Given the description of an element on the screen output the (x, y) to click on. 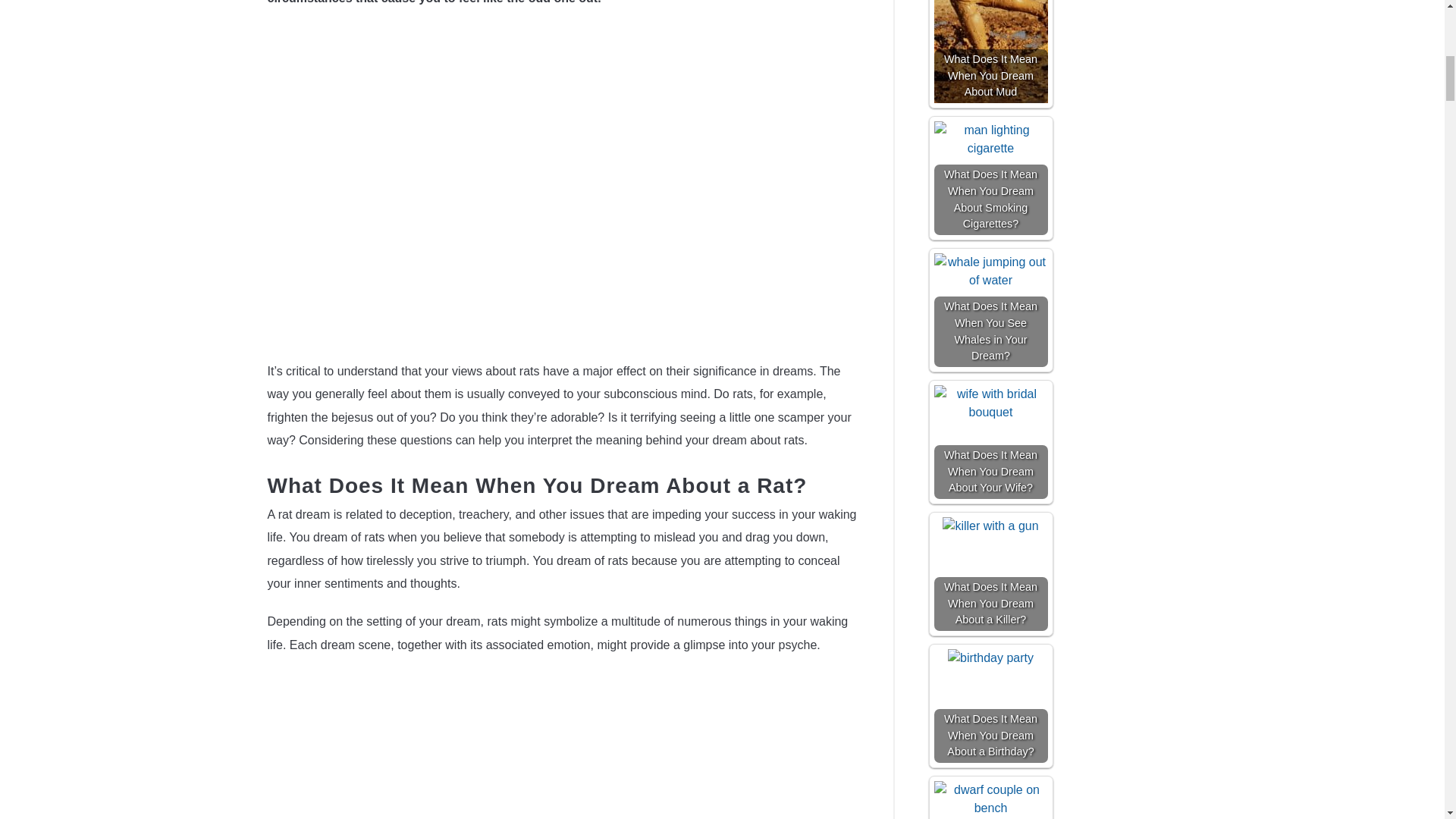
What Does It Mean When You Dream About Smoking Cigarettes? (991, 178)
What Does It Mean When You Dream About a Killer? (991, 573)
What Does It Mean When You Dream About Smoking Cigarettes? (991, 139)
What Does It Mean When You Dream About a Dwarf? (991, 800)
What Does It Mean When You Dream About a Killer? (990, 525)
What Does It Mean When You Dream About Your Wife? (991, 441)
What Does It Mean When You Dream About a Dwarf? (991, 799)
What Does It Mean When You Dream About a Birthday? (991, 705)
What Does It Mean When You Dream About Mud (991, 51)
What Does It Mean When You See Whales in Your Dream? (991, 309)
What Does It Mean When You Dream About Your Wife? (991, 402)
What Does It Mean When You Dream About Mud (991, 51)
What Does It Mean When You See Whales in Your Dream? (991, 271)
What Does It Mean When You Dream About a Birthday? (990, 658)
